Given the description of an element on the screen output the (x, y) to click on. 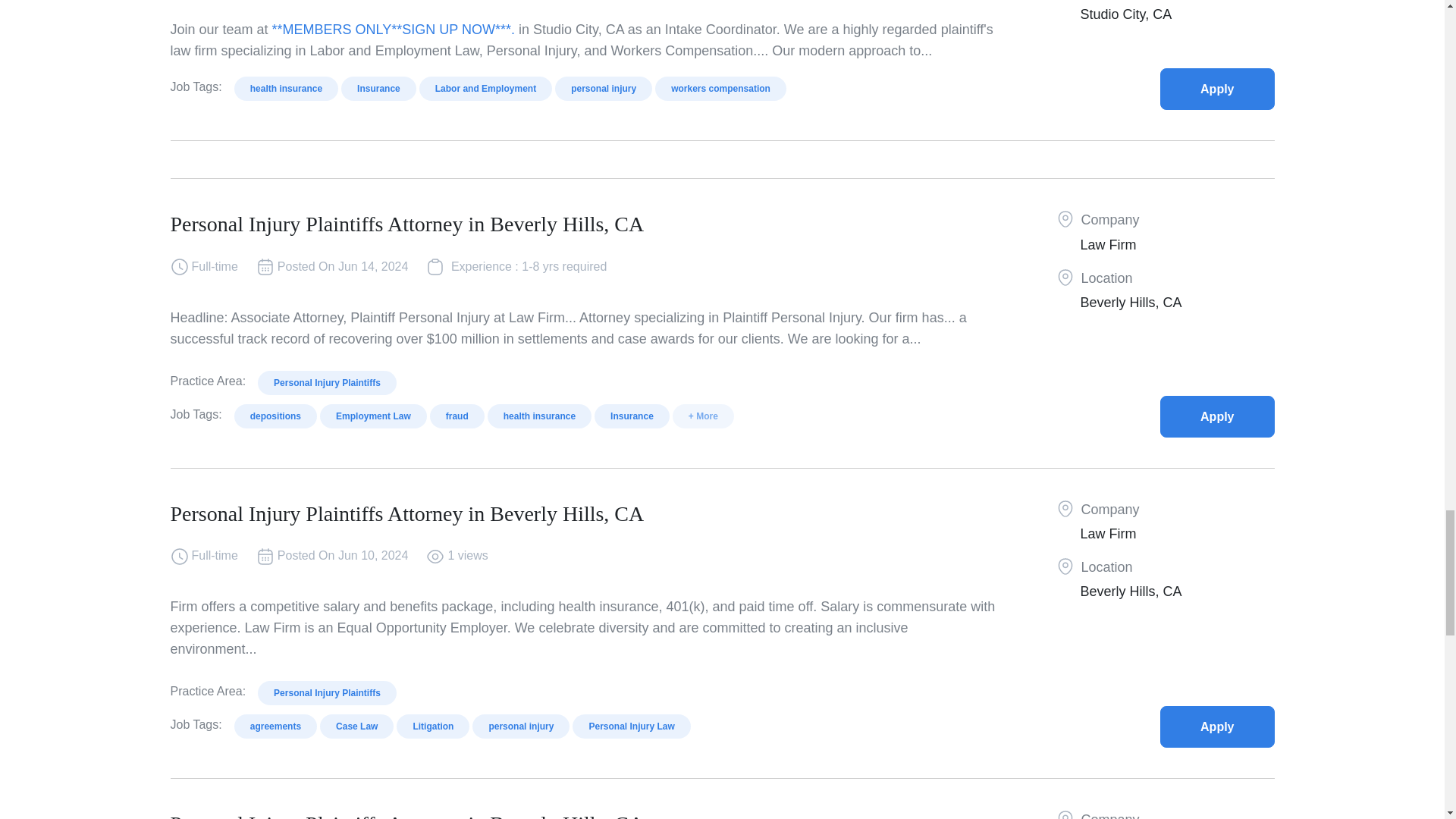
Personal Injury Plaintiffs Attorney in Beverly Hills, CA (1217, 416)
Legal Staff Other in Studio City, CA (1217, 88)
Personal Injury Plaintiffs Attorney in Beverly Hills, CA (1217, 726)
